Given the description of an element on the screen output the (x, y) to click on. 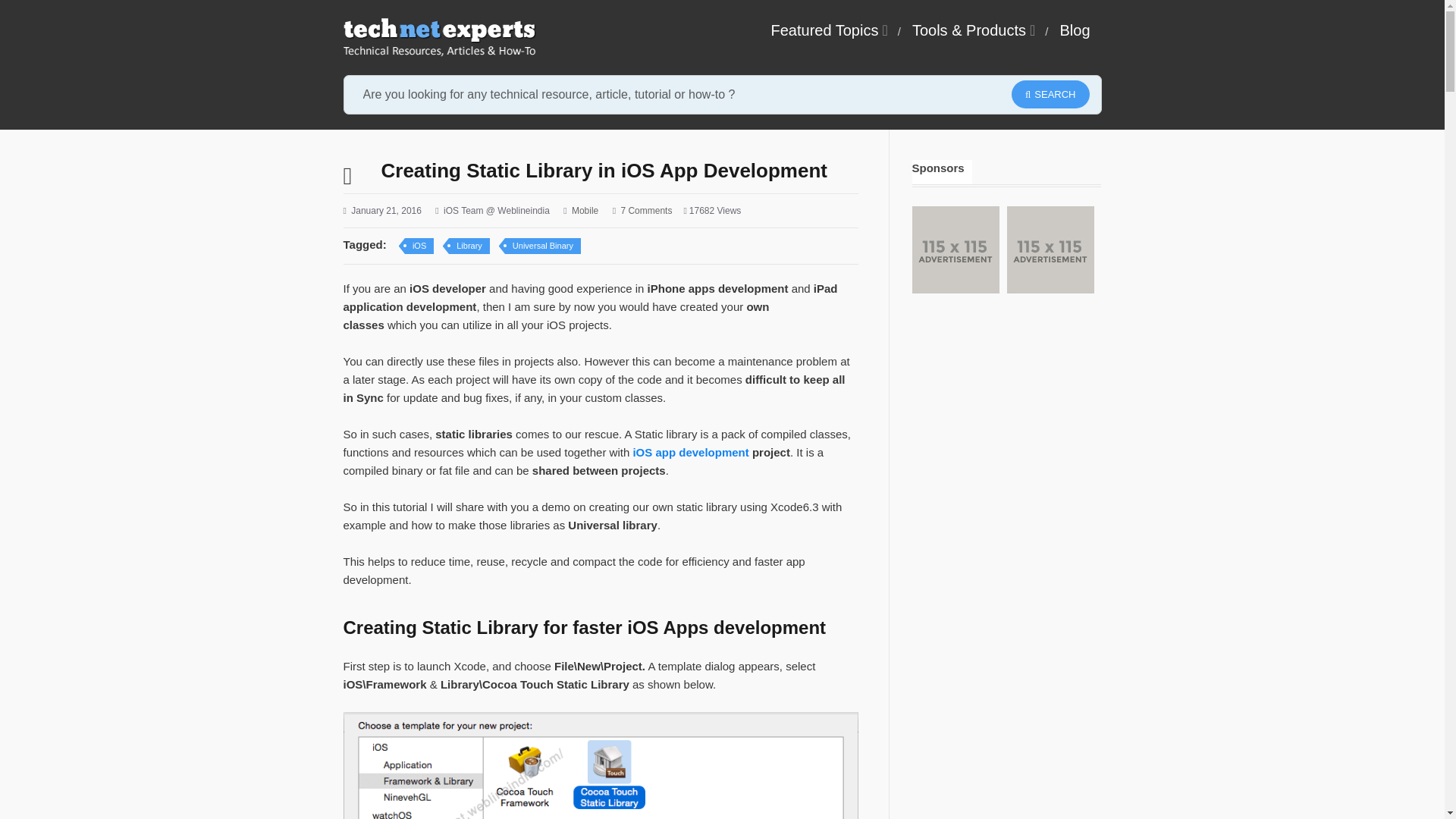
SEARCH (1050, 94)
TechNetExperts (438, 37)
Blog (1074, 30)
Featured Topics (827, 30)
Mobile (585, 210)
